Given the description of an element on the screen output the (x, y) to click on. 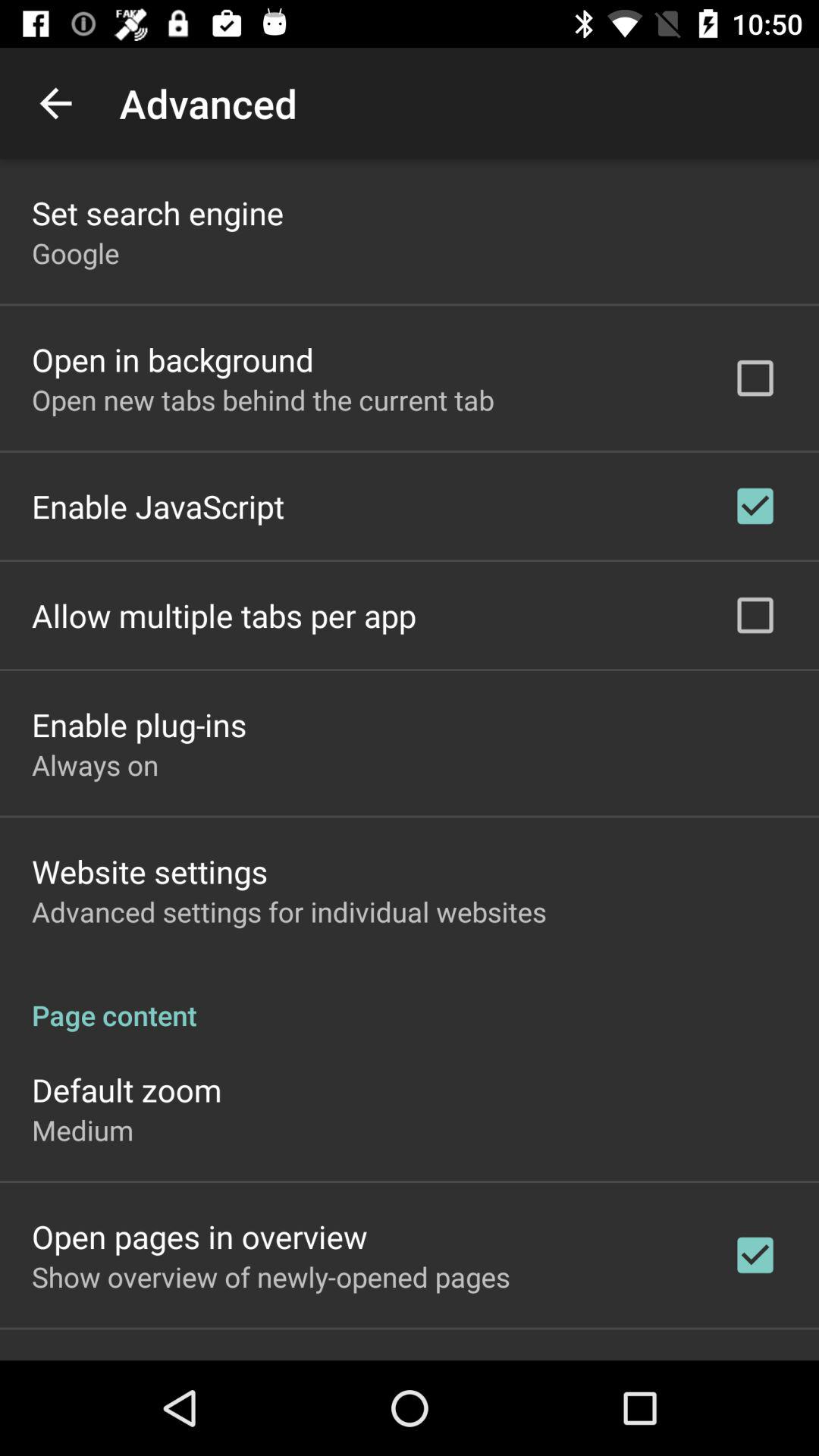
launch app above the enable plug-ins item (223, 615)
